Given the description of an element on the screen output the (x, y) to click on. 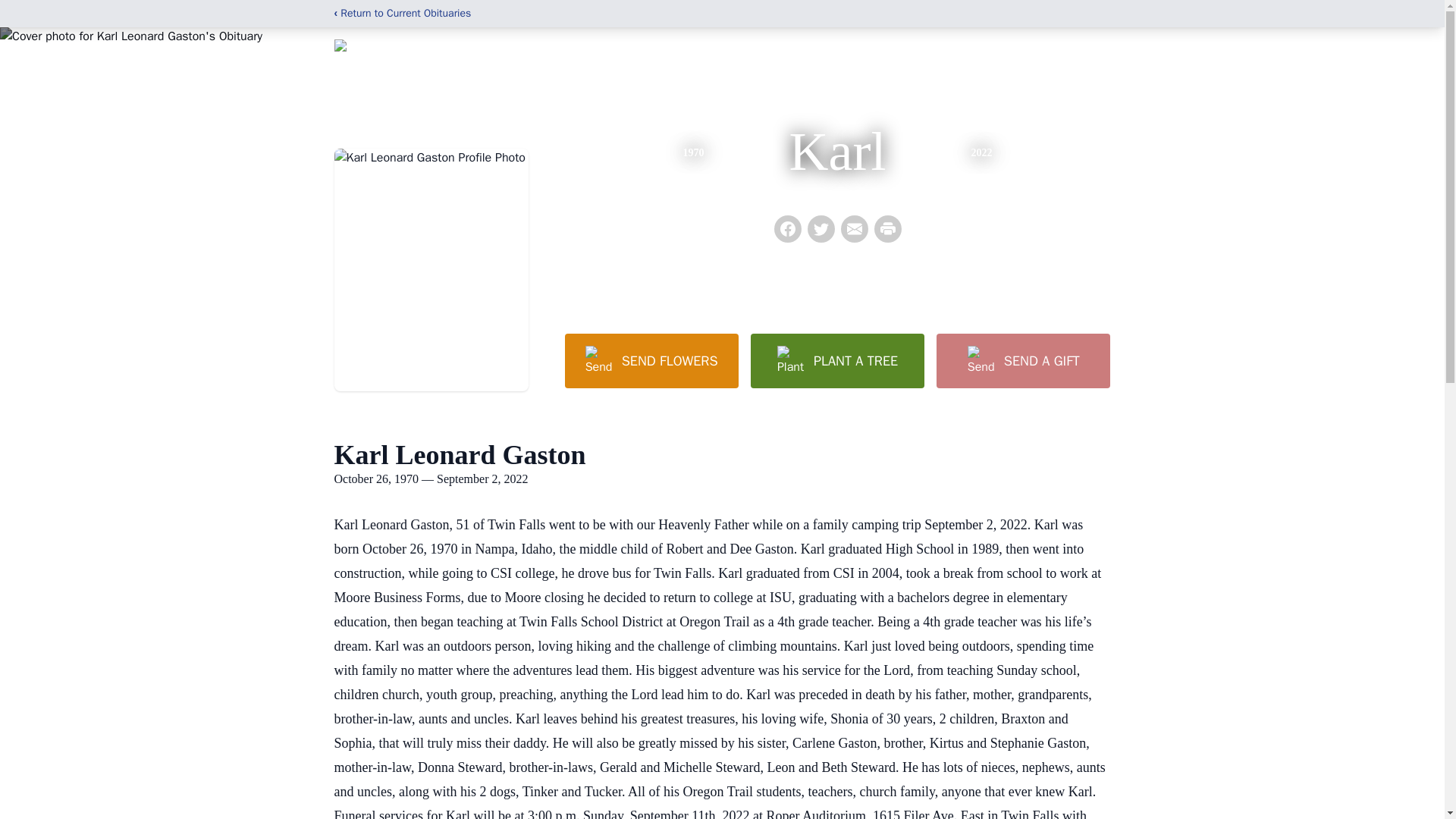
PLANT A TREE (837, 360)
SEND FLOWERS (651, 360)
SEND A GIFT (1022, 360)
